Given the description of an element on the screen output the (x, y) to click on. 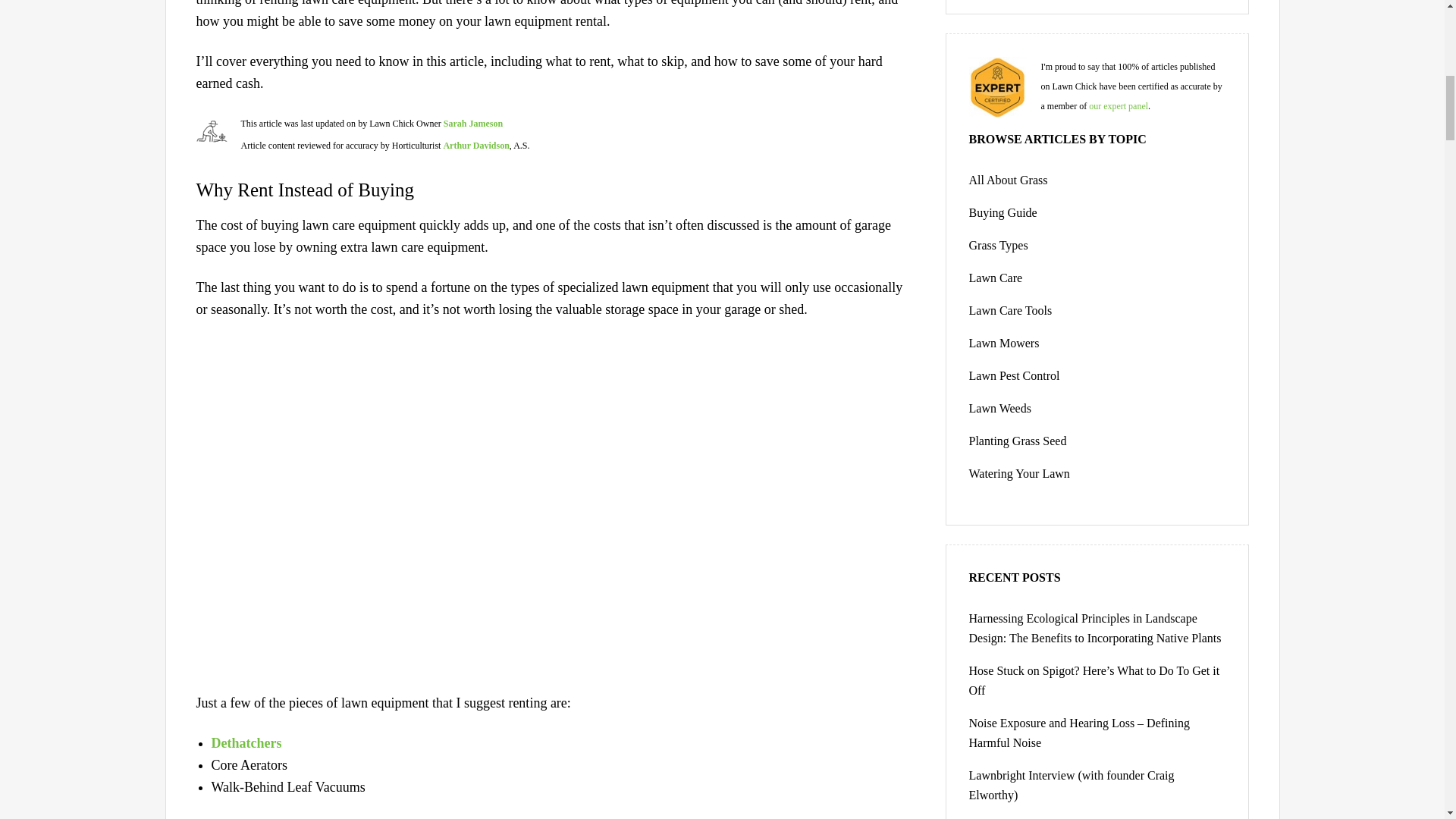
Dethatchers (246, 743)
Arthur Davidson (475, 145)
Sarah Jameson (473, 122)
